Given the description of an element on the screen output the (x, y) to click on. 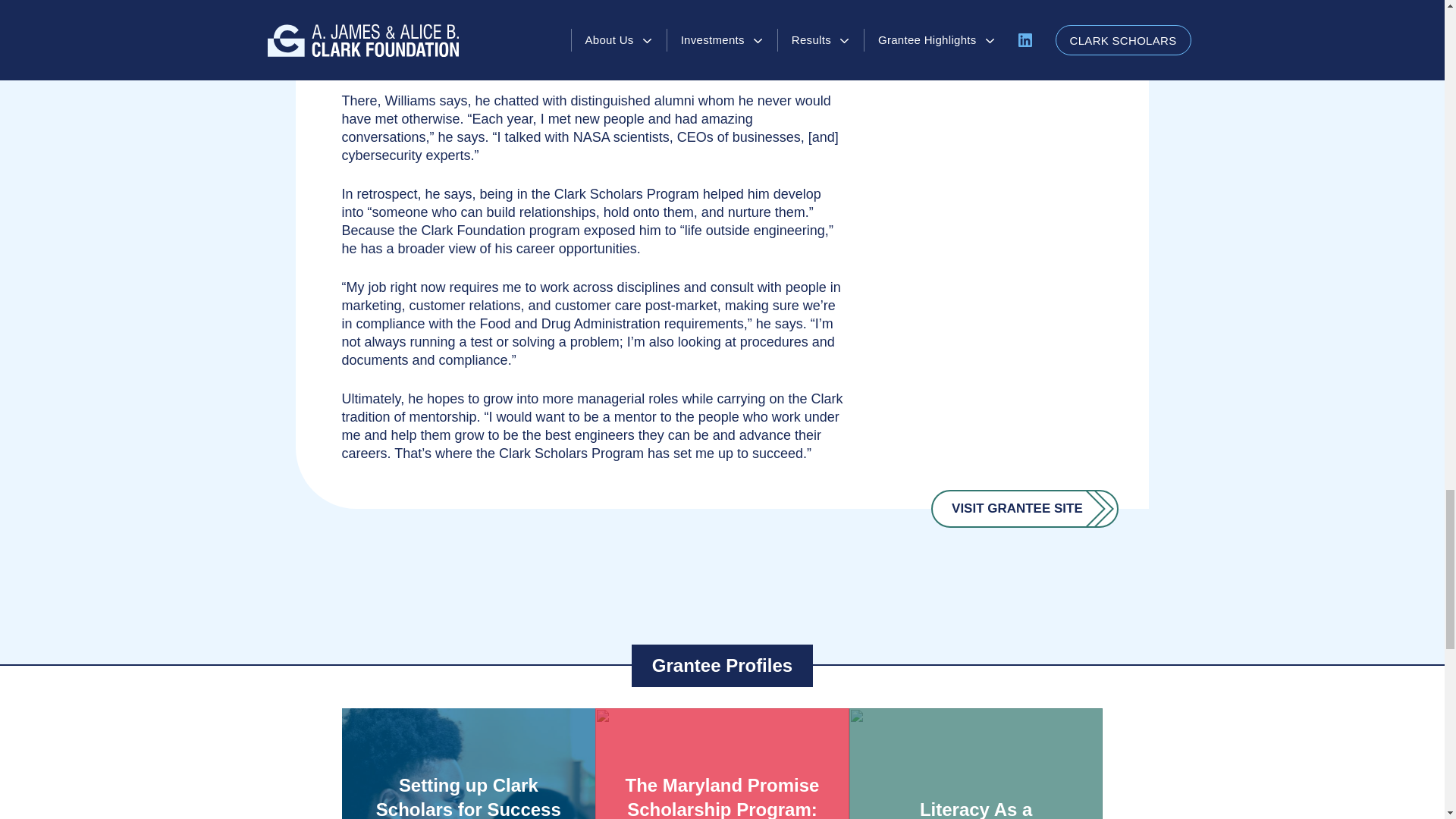
Literacy As a Human Right (975, 763)
VISIT GRANTEE SITE (1024, 508)
